Given the description of an element on the screen output the (x, y) to click on. 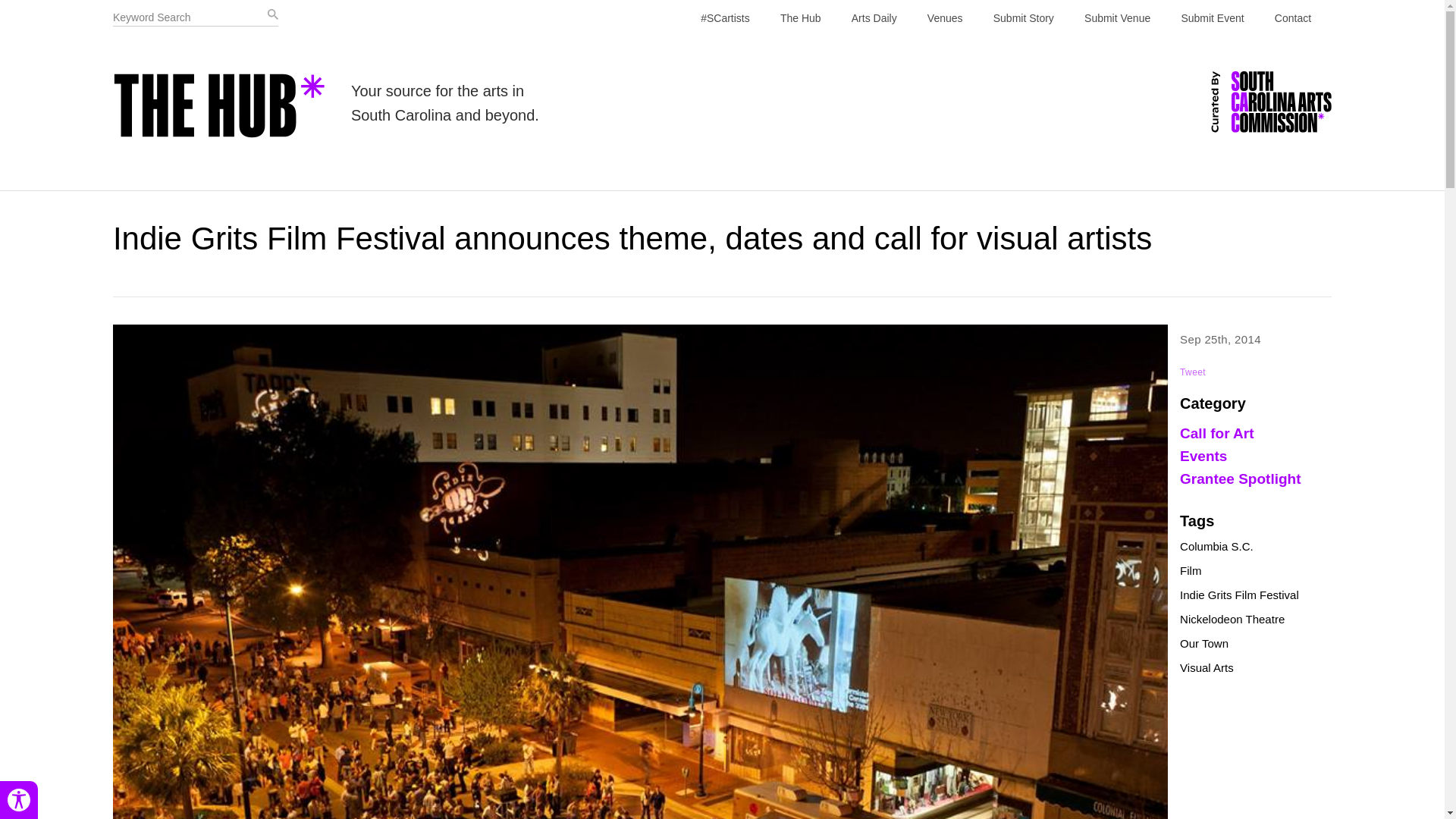
Columbia S.C. (1216, 545)
Call for Art (1216, 433)
Grantee Spotlight (1239, 478)
Venues (944, 18)
Events (1203, 455)
Our Town (1203, 643)
Toggle Accessibility Panel (18, 800)
Tweet (1192, 371)
Indie Grits Film Festival (1238, 594)
Arts Daily (874, 18)
Submit Event (1211, 18)
Submit Story (1024, 18)
Nickelodeon Theatre (1231, 618)
Contact (1292, 18)
Film (1190, 570)
